Given the description of an element on the screen output the (x, y) to click on. 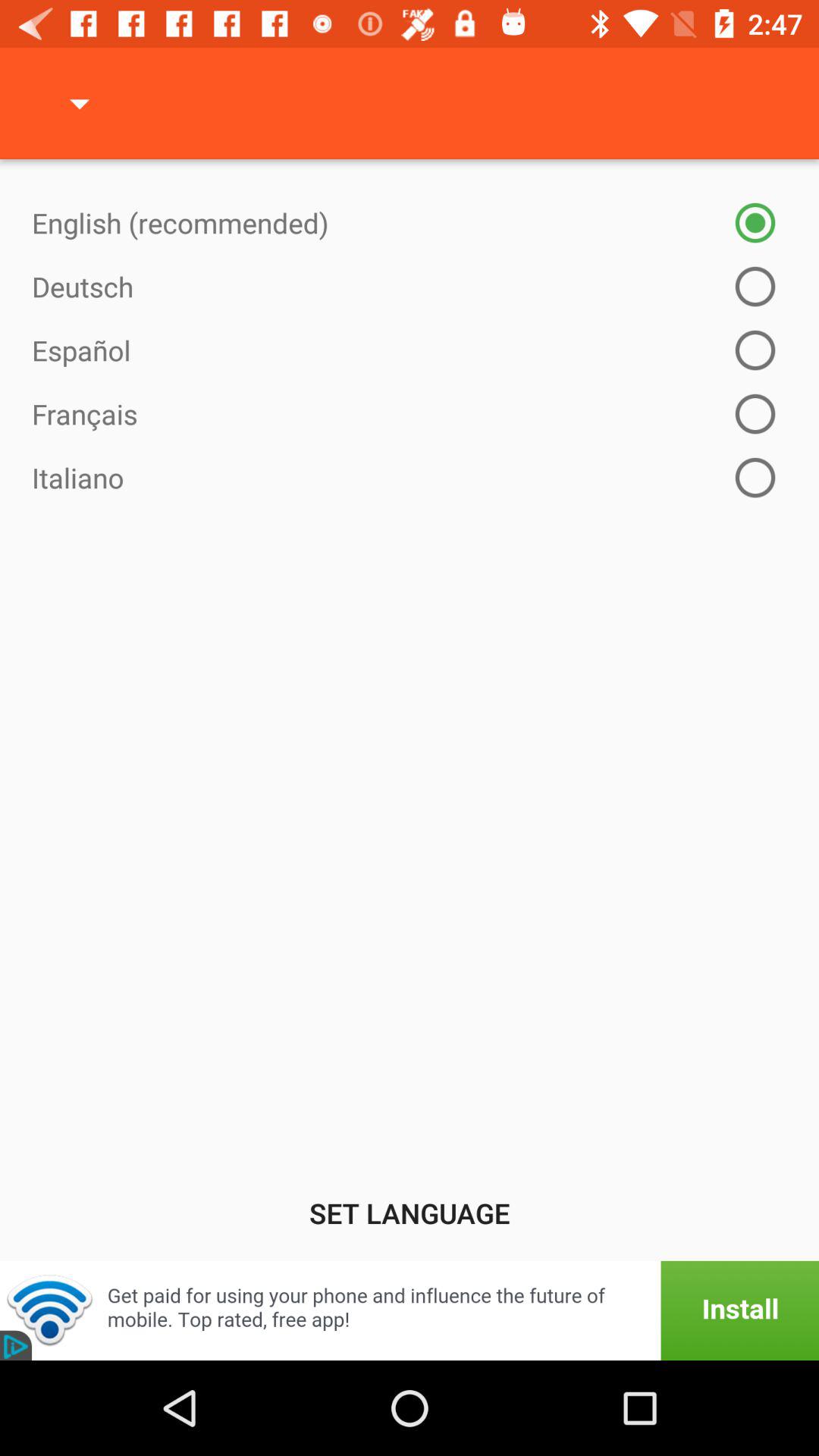
open advertisement (409, 1310)
